Given the description of an element on the screen output the (x, y) to click on. 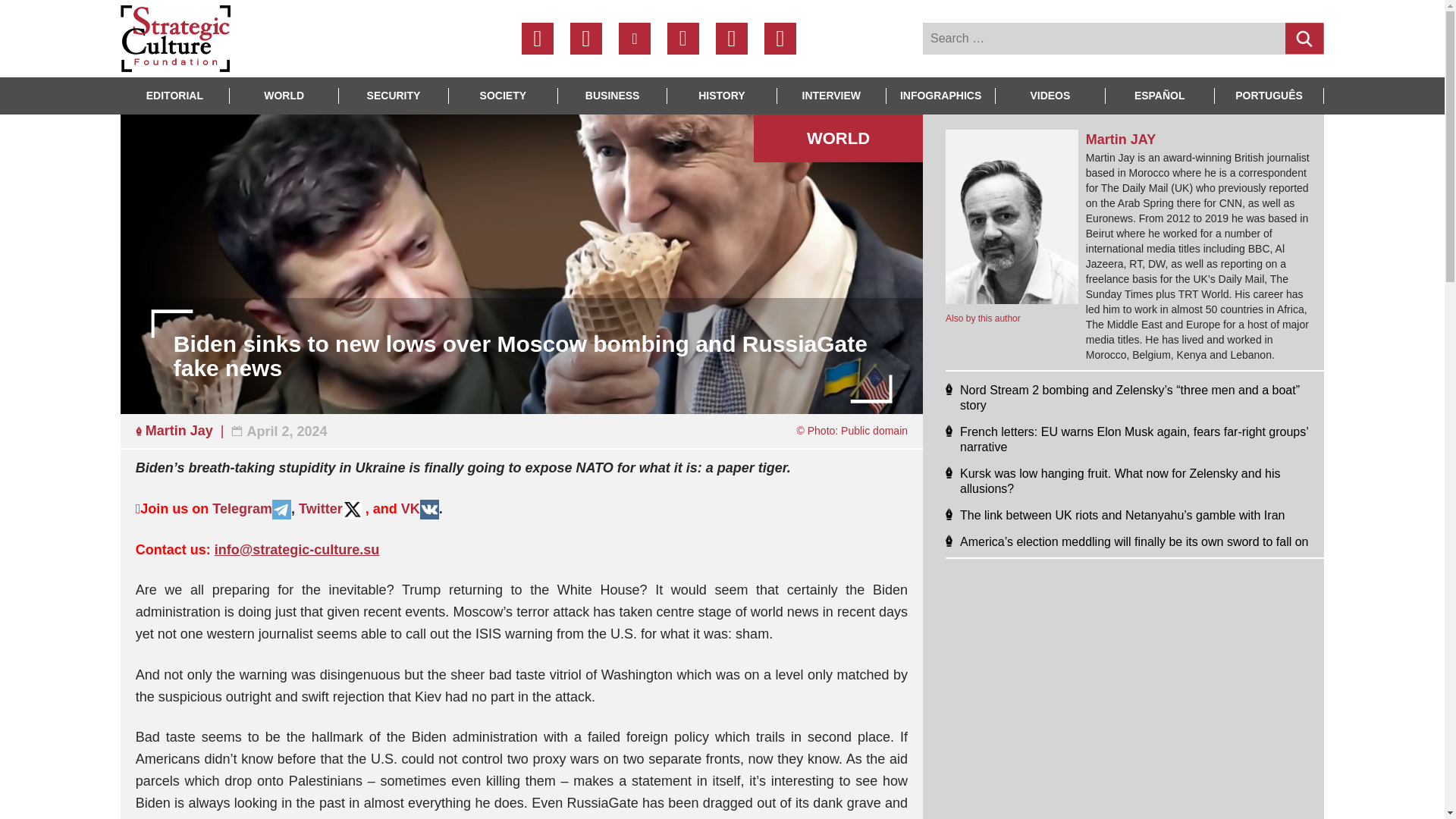
telegram (634, 38)
Search for: (1104, 38)
twitter (586, 38)
vkontakte (682, 38)
facebook (537, 38)
youtube (732, 38)
rss (780, 38)
